Given the description of an element on the screen output the (x, y) to click on. 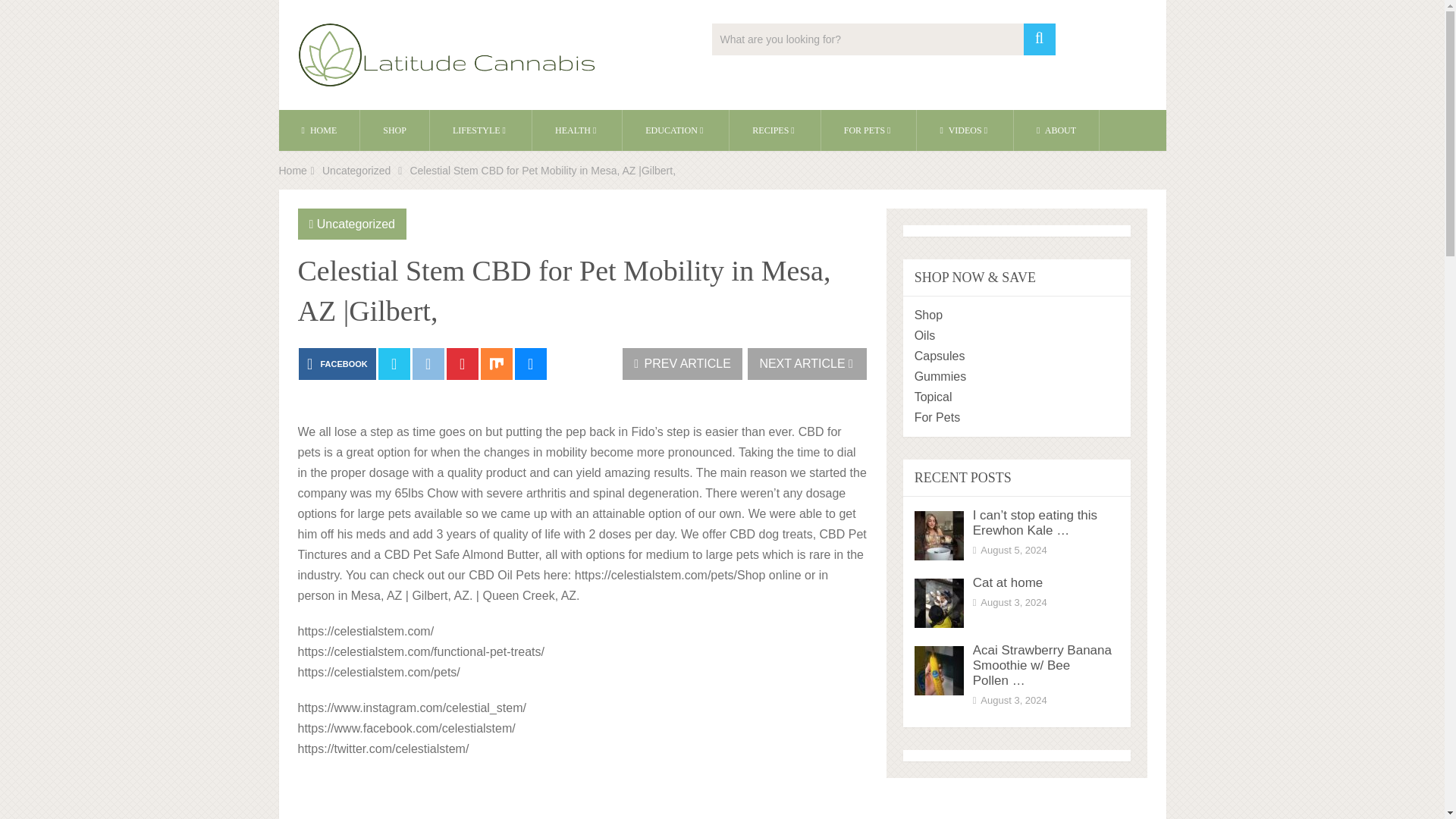
celestialstem (581, 796)
LIFESTYLE (480, 129)
Home (293, 170)
ABOUT (1056, 129)
Uncategorized (355, 223)
NEXT ARTICLE (807, 364)
VIDEOS (965, 129)
HOME (319, 129)
HEALTH (576, 129)
FACEBOOK (336, 364)
FOR PETS (869, 129)
SHOP (394, 129)
View all posts in Uncategorized (355, 223)
RECIPES (774, 129)
PREV ARTICLE (682, 364)
